Given the description of an element on the screen output the (x, y) to click on. 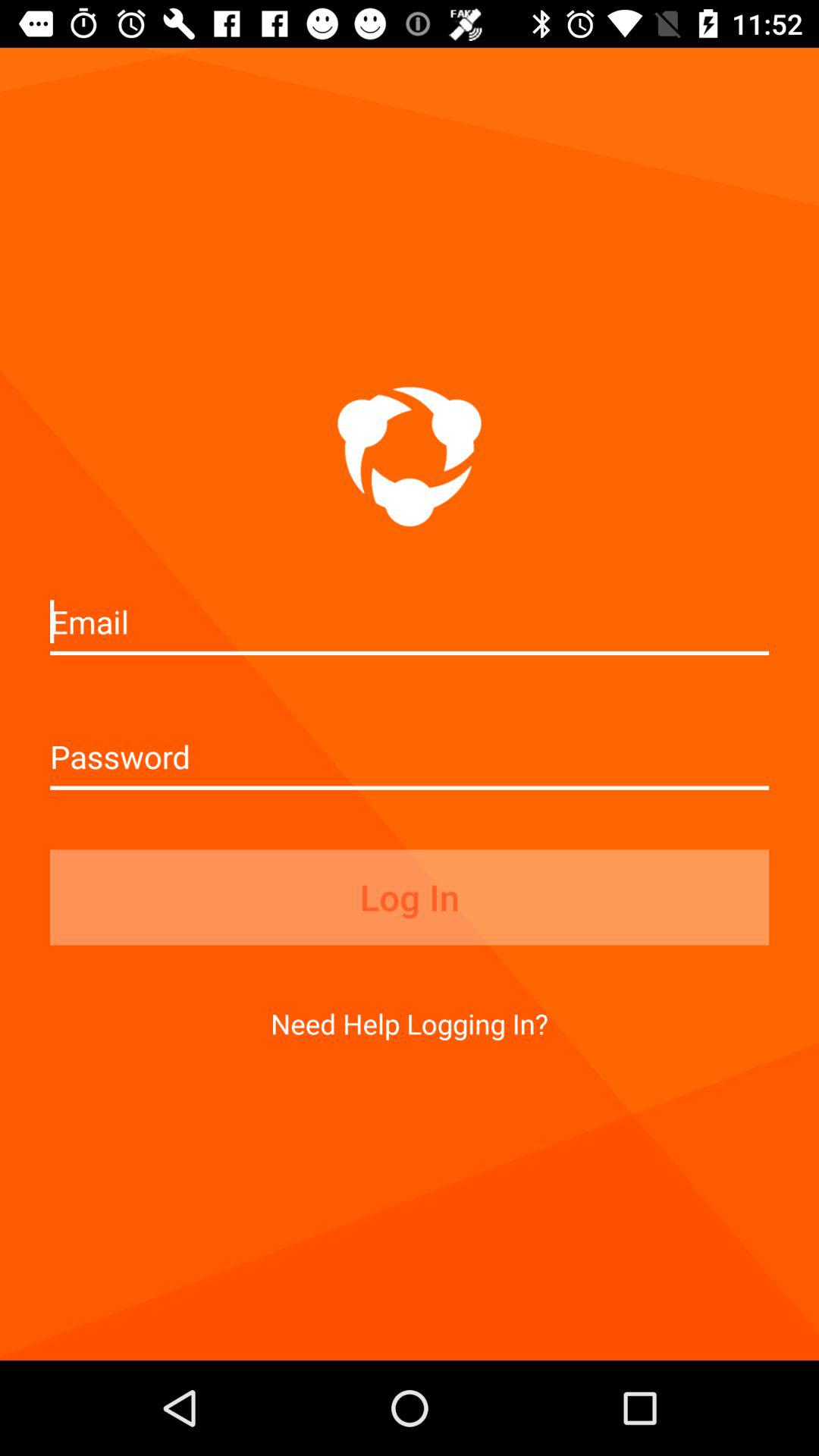
flip until log in item (409, 897)
